Given the description of an element on the screen output the (x, y) to click on. 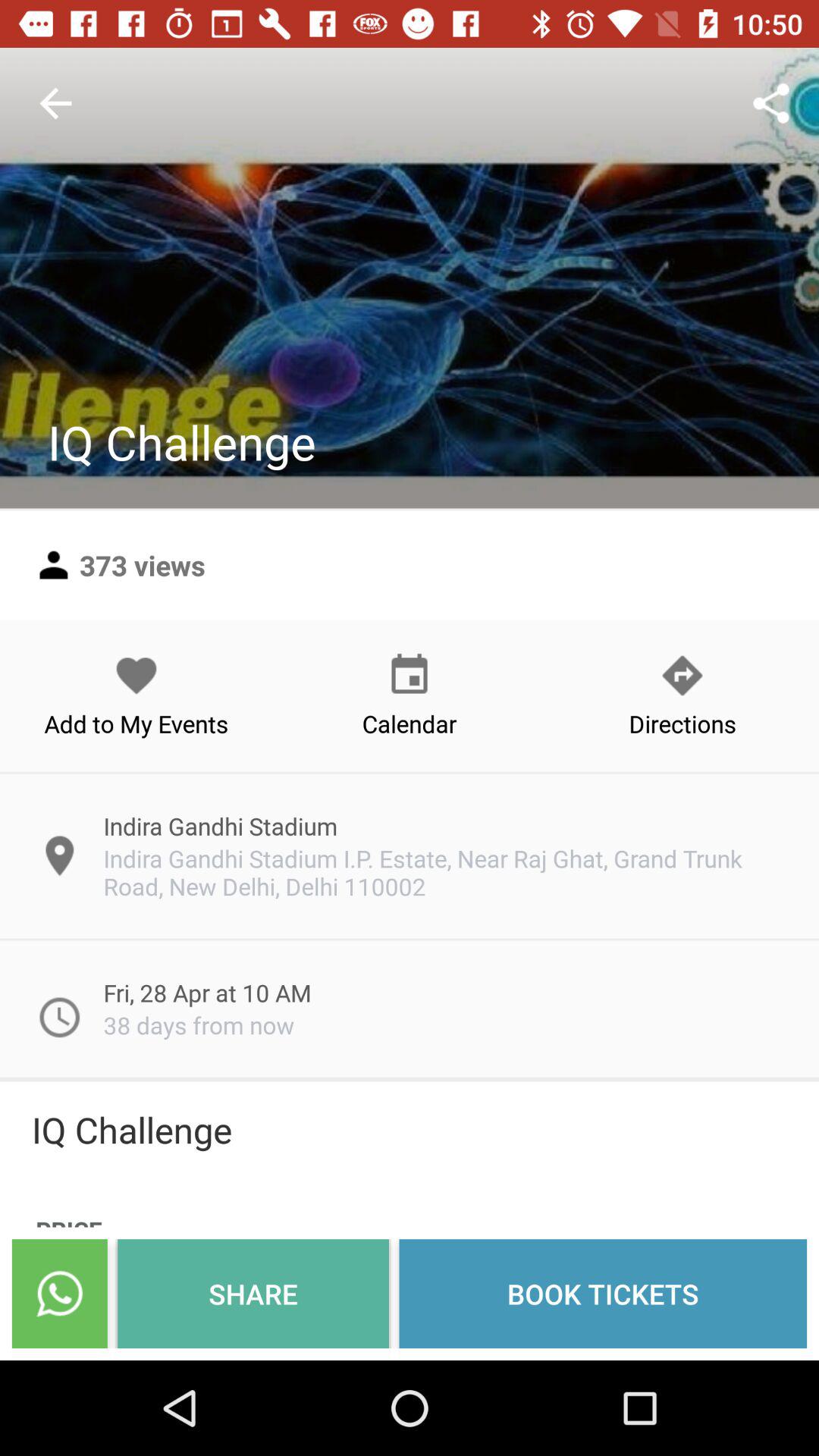
press the item at the bottom right corner (603, 1293)
